Given the description of an element on the screen output the (x, y) to click on. 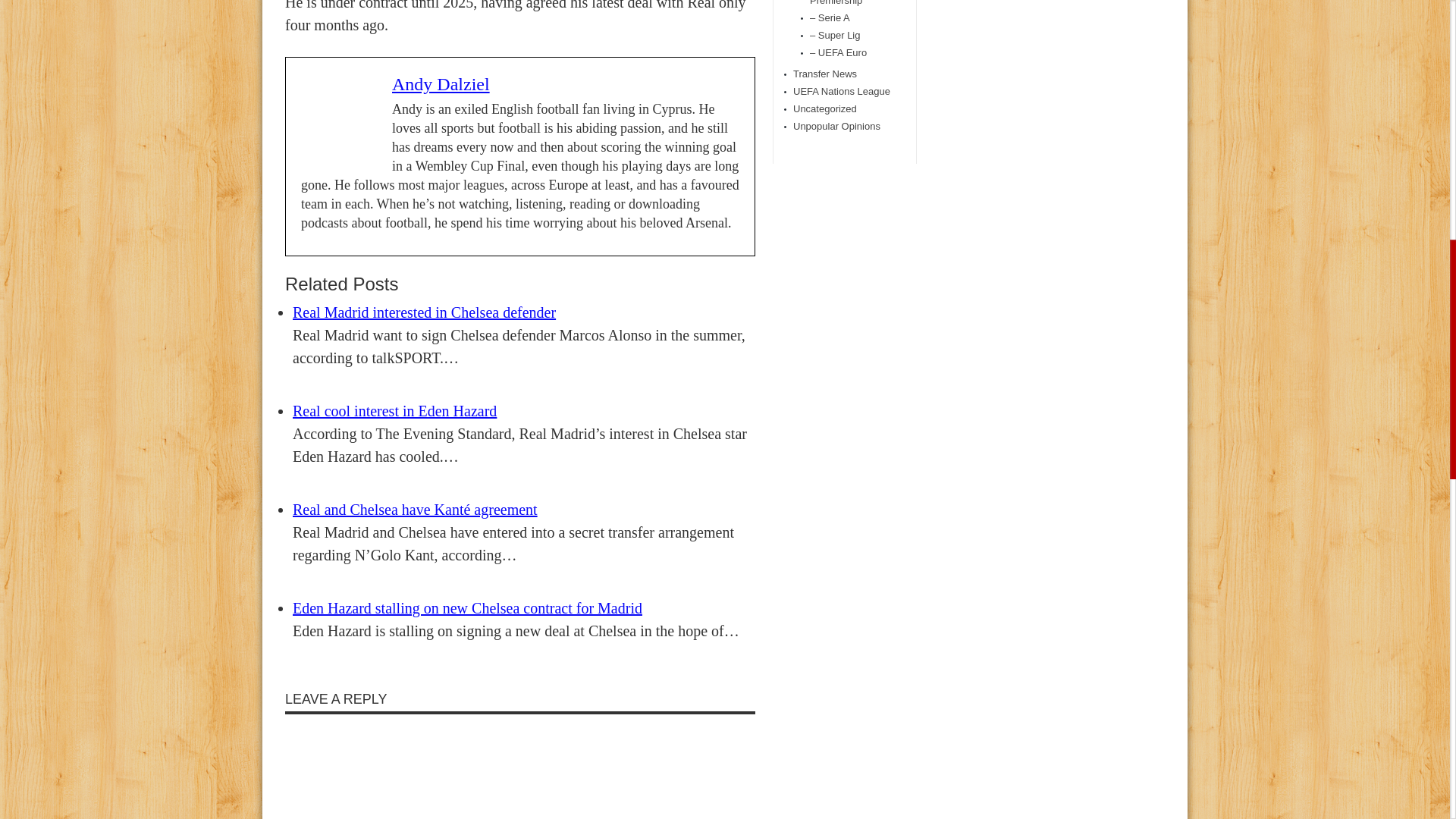
Real cool interest in Eden Hazard (394, 410)
Eden Hazard stalling on new Chelsea contract for Madrid (467, 607)
Real Madrid interested in Chelsea defender (424, 312)
Comment Form (519, 768)
Andy Dalziel (440, 84)
